Given the description of an element on the screen output the (x, y) to click on. 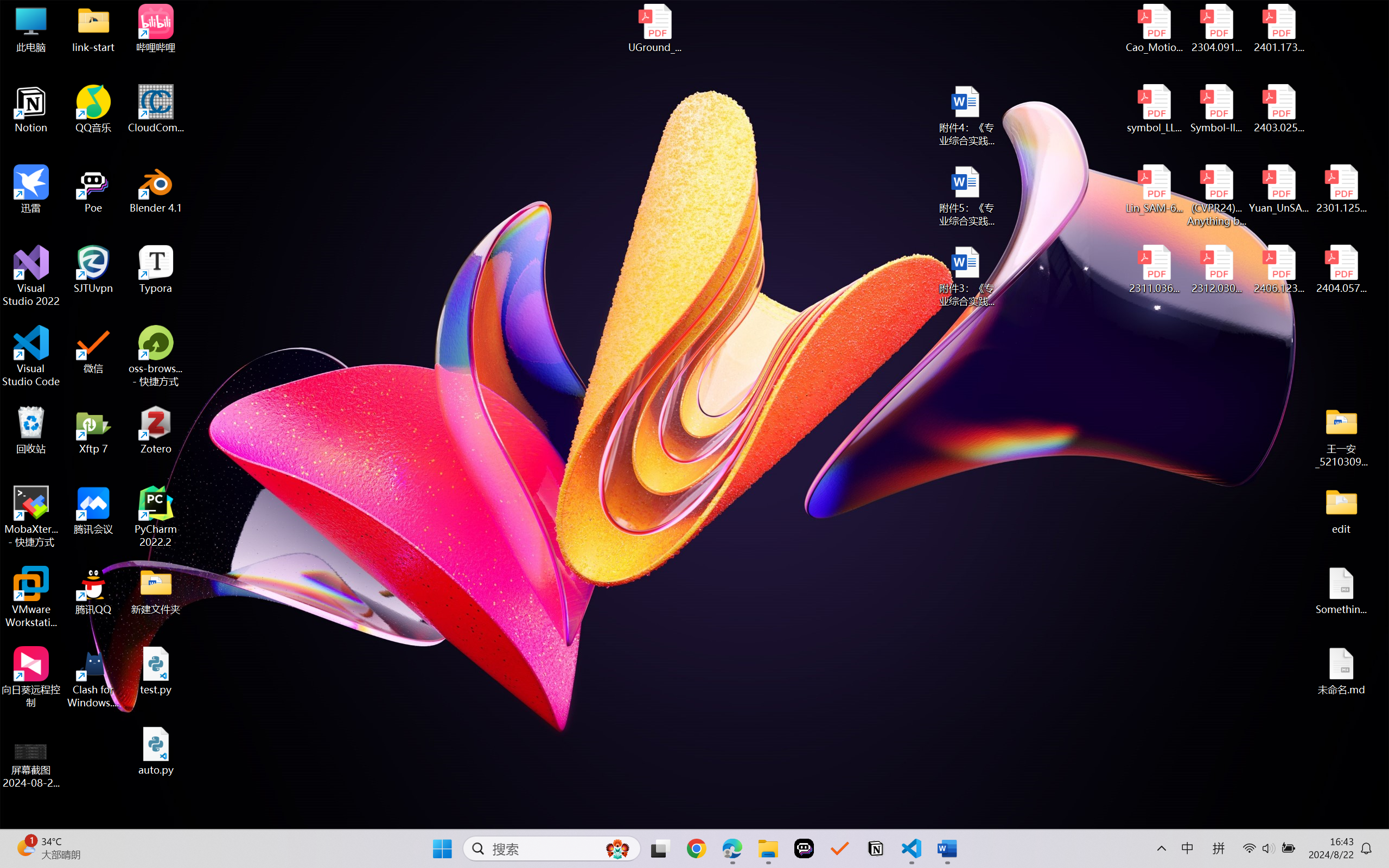
Something.md (1340, 591)
Google Chrome (696, 848)
test.py (156, 670)
Visual Studio 2022 (31, 276)
Blender 4.1 (156, 189)
